Given the description of an element on the screen output the (x, y) to click on. 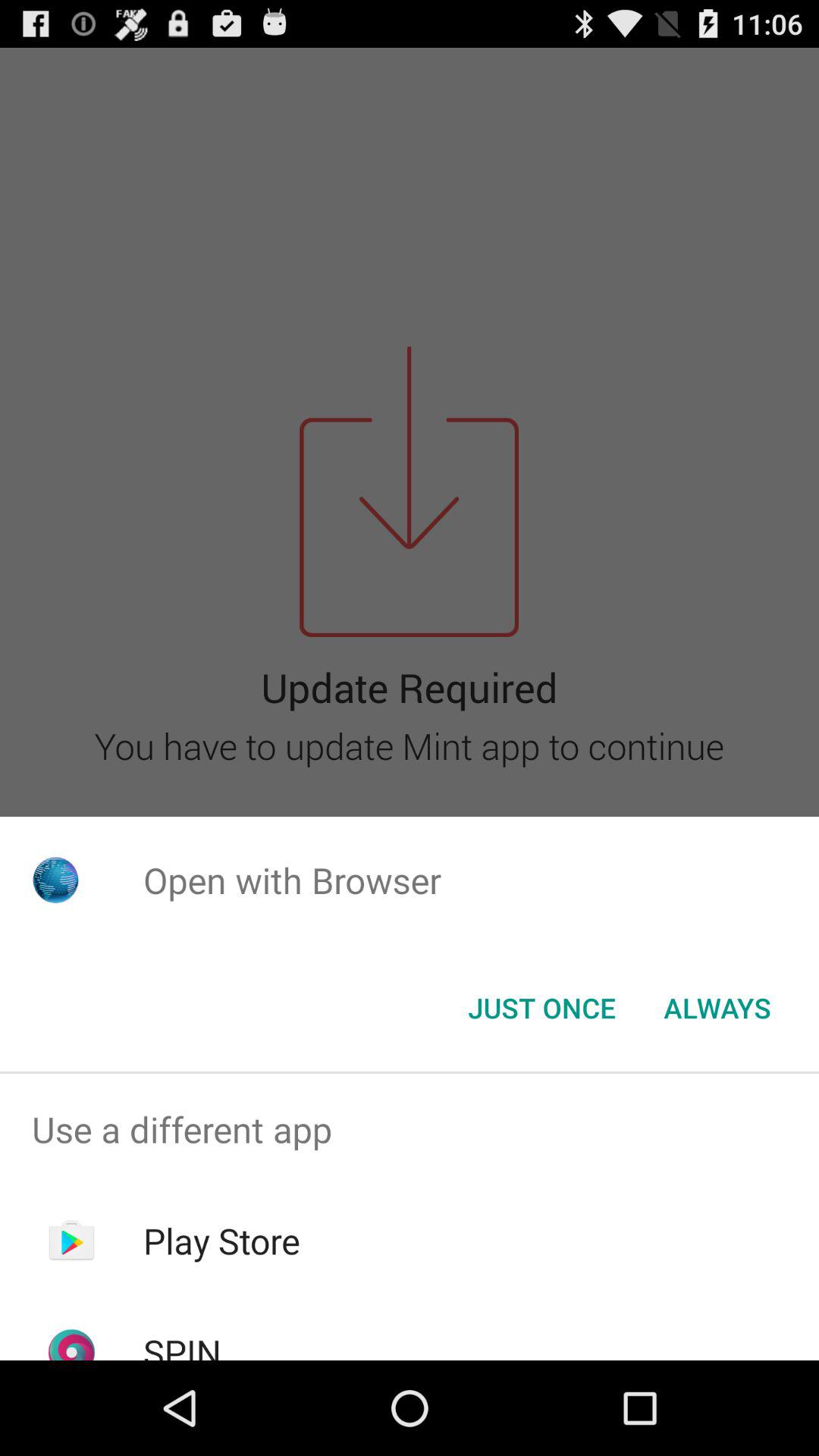
flip to the play store item (221, 1240)
